Given the description of an element on the screen output the (x, y) to click on. 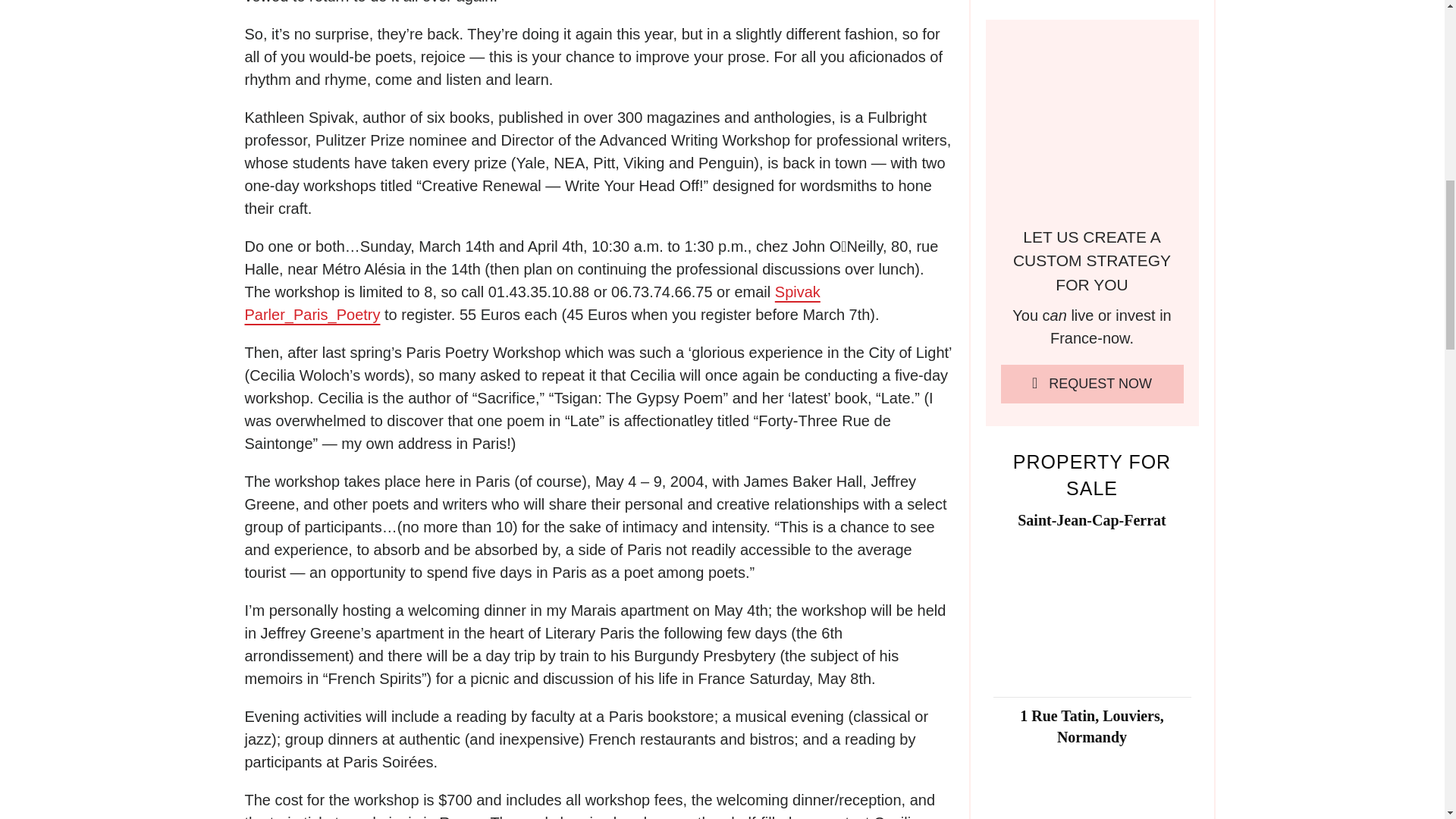
Saint-Jean-Cap-Ferrat (1091, 519)
Saint-Jean-Cap-Ferrat (1091, 610)
